Given the description of an element on the screen output the (x, y) to click on. 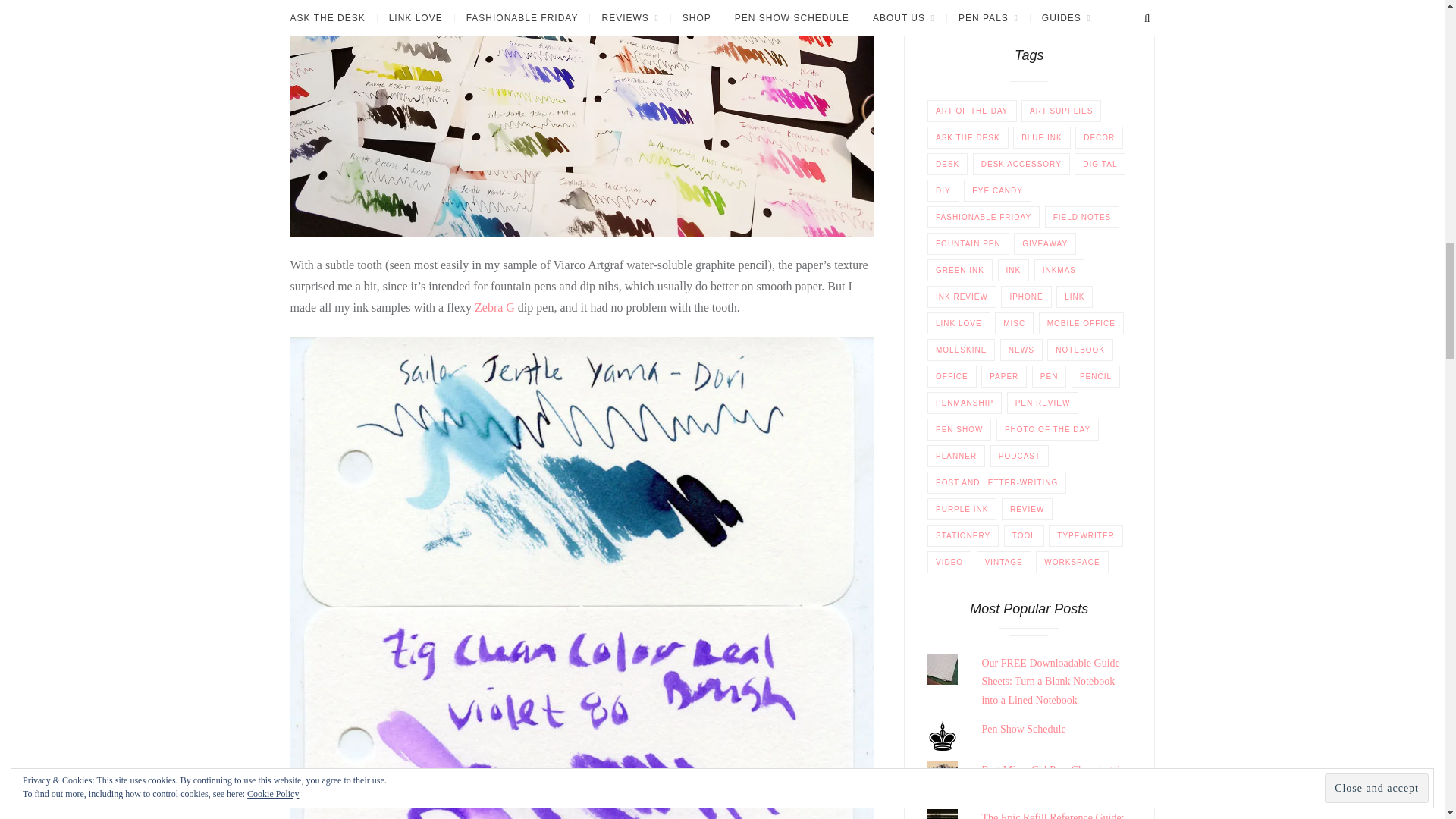
Pen Show Schedule (1023, 728)
Best Micro Gel Pen: Choosing the Right One (1053, 779)
Zebra G (494, 307)
